Given the description of an element on the screen output the (x, y) to click on. 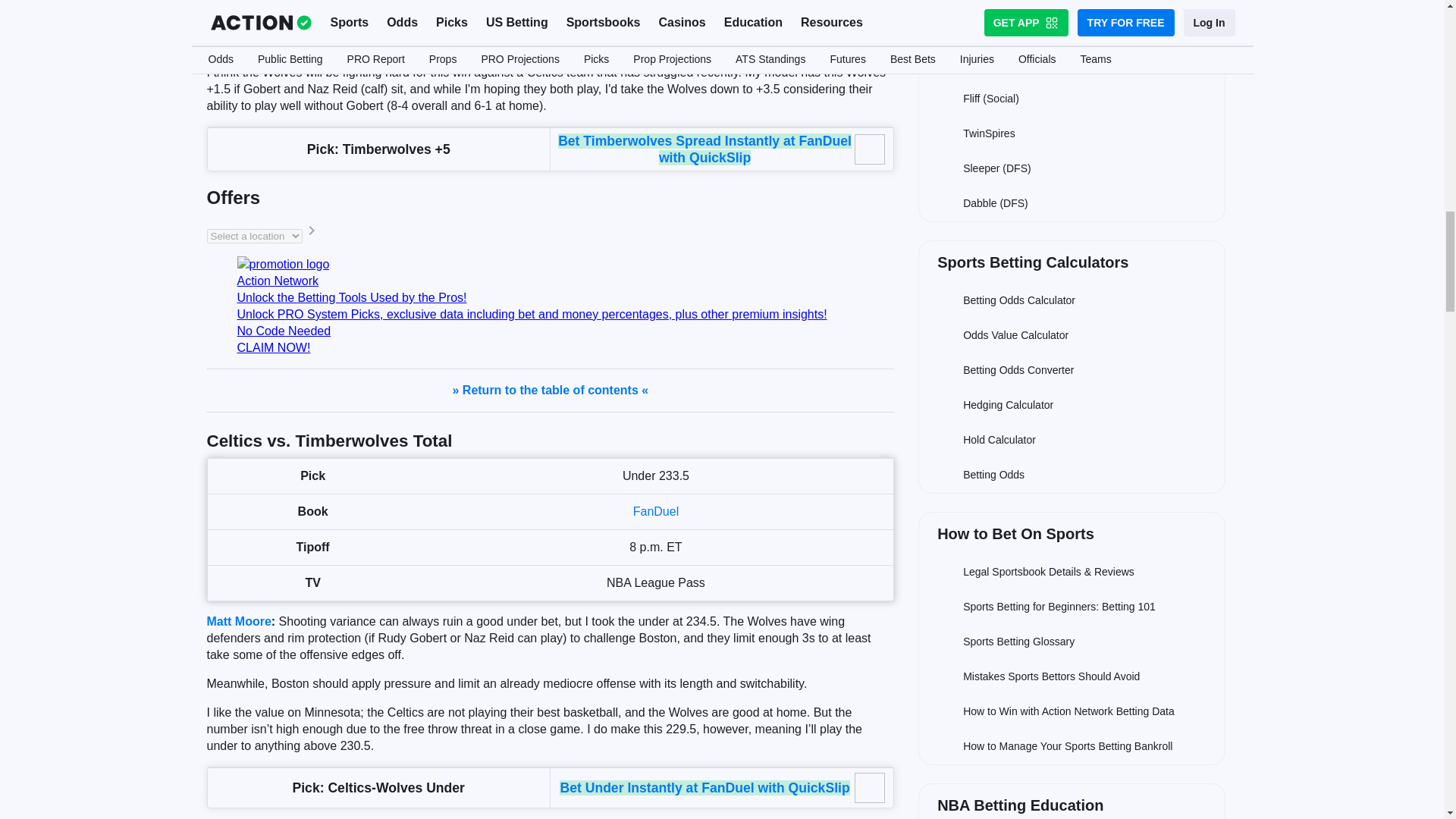
Bet Timberwolves Spread Instantly at FanDuel with QuickSlip (704, 149)
